Given the description of an element on the screen output the (x, y) to click on. 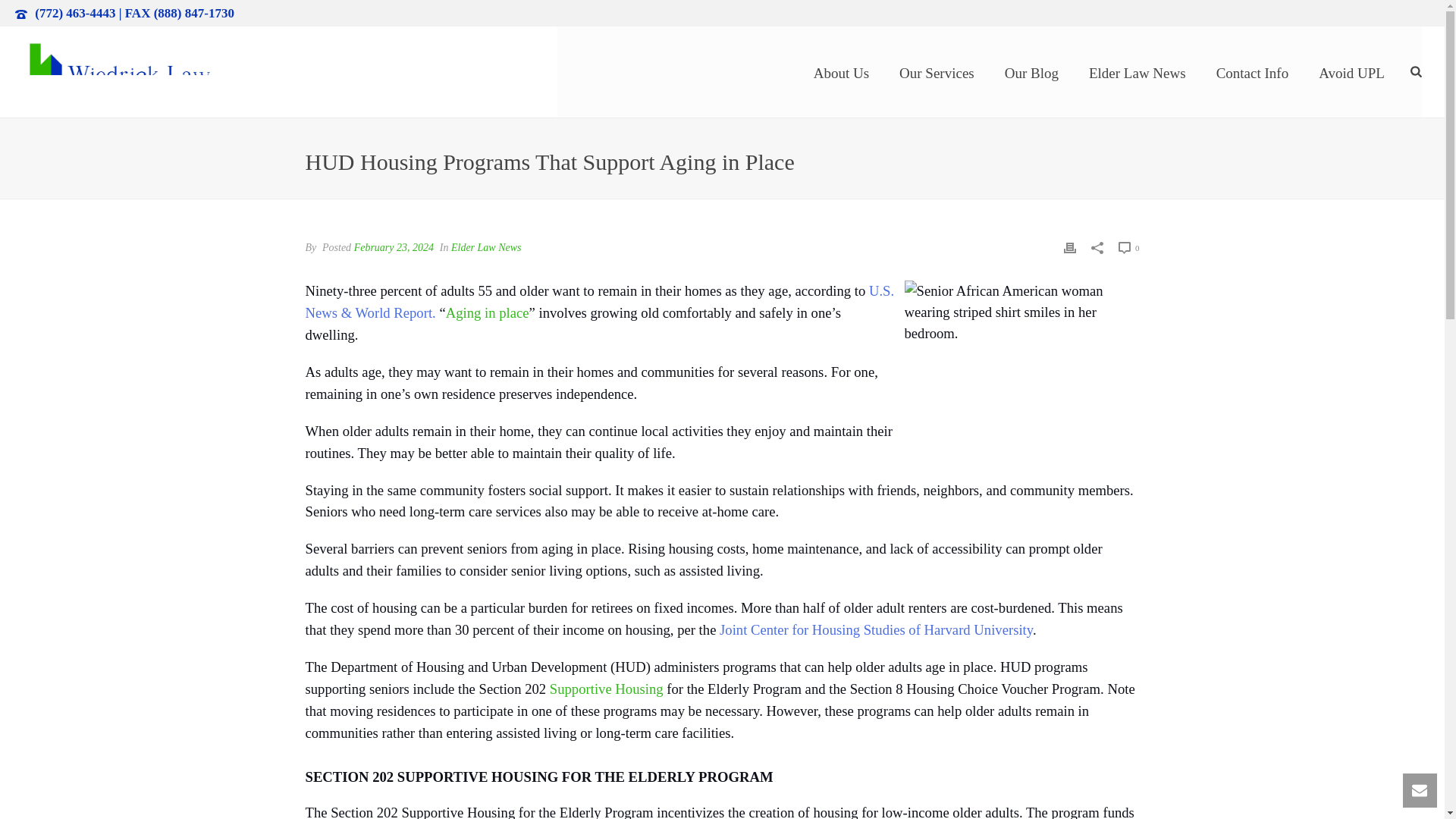
Our Services (936, 71)
February 23, 2024 (393, 247)
Elder Law News (1137, 71)
Avoid UPL (1351, 71)
Our Blog (1032, 71)
Aging in place (487, 312)
Our Blog (1032, 71)
0 (1128, 247)
About Us (840, 71)
Avoid UPL (1351, 71)
Elder Law News (486, 247)
Contact Info (1252, 71)
Supportive Housing (606, 688)
Elder Law Firm (117, 71)
Joint Center for Housing Studies of Harvard University (875, 629)
